Given the description of an element on the screen output the (x, y) to click on. 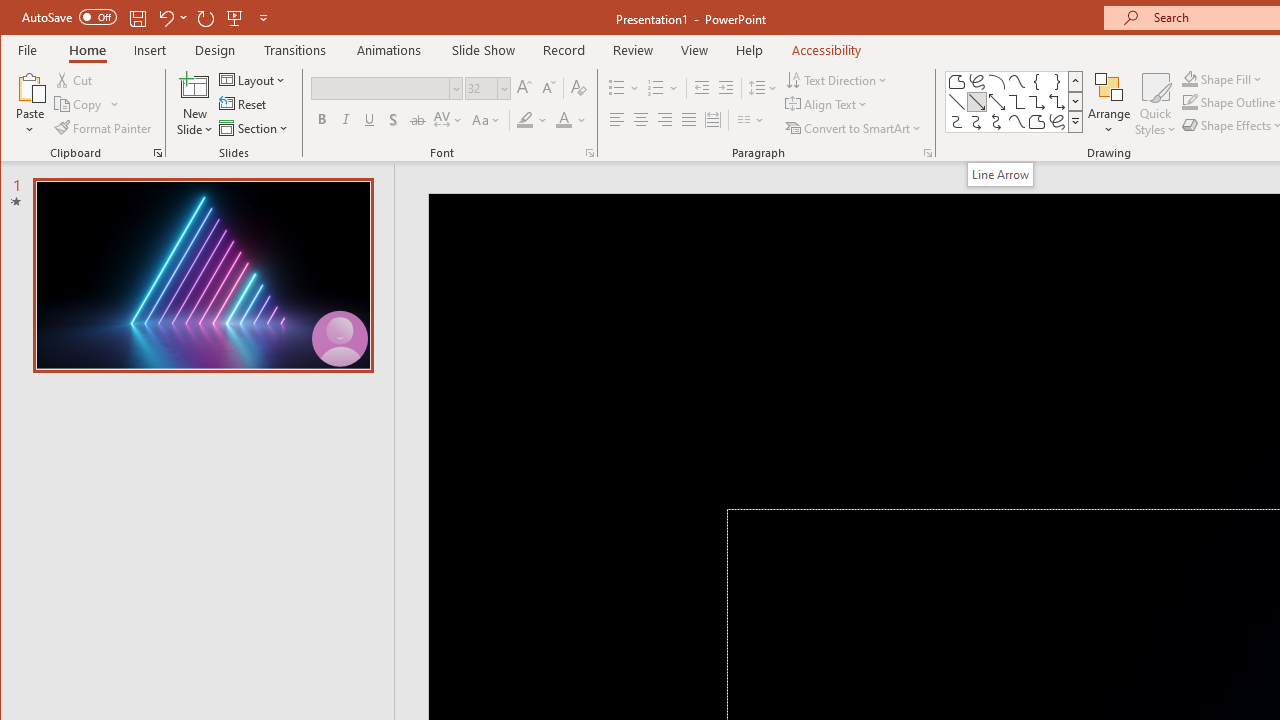
Connector: Curved Arrow (976, 121)
